Given the description of an element on the screen output the (x, y) to click on. 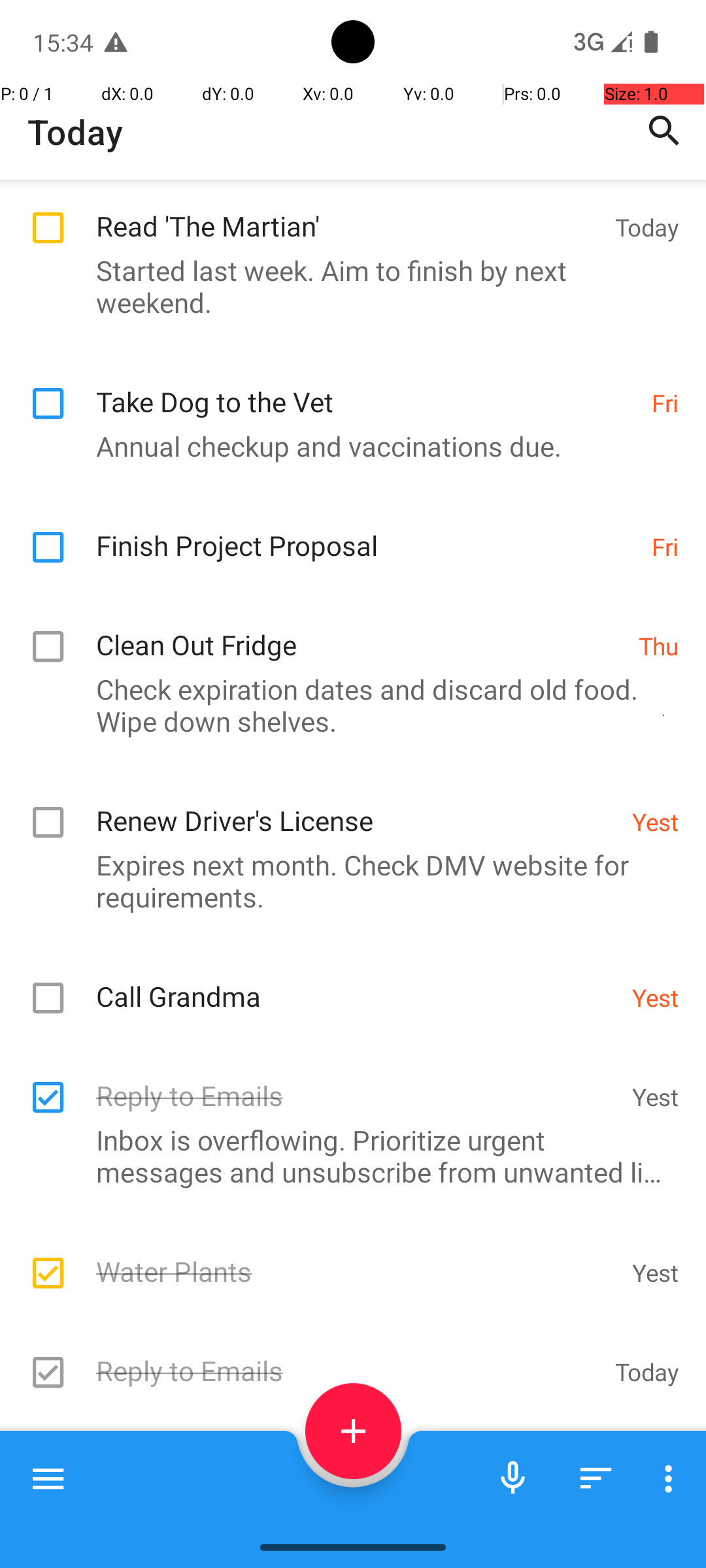
Read 'The Martian' Element type: android.widget.TextView (348, 211)
Started last week. Aim to finish by next weekend. Element type: android.widget.TextView (346, 285)
Take Dog to the Vet Element type: android.widget.TextView (367, 387)
Annual checkup and vaccinations due. Element type: android.widget.TextView (346, 445)
Finish Project Proposal Element type: android.widget.TextView (367, 531)
Clean Out Fridge Element type: android.widget.TextView (360, 630)
Check expiration dates and discard old food. Wipe down shelves. Element type: android.widget.TextView (346, 704)
Renew Driver's License Element type: android.widget.TextView (357, 806)
Expires next month. Check DMV website for requirements. Element type: android.widget.TextView (346, 880)
Call Grandma Element type: android.widget.TextView (357, 981)
Reply to Emails Element type: android.widget.TextView (357, 1081)
Inbox is overflowing. Prioritize urgent messages and unsubscribe from unwanted lists. Element type: android.widget.TextView (346, 1155)
Water Plants Element type: android.widget.TextView (357, 1257)
Change Air Filter Element type: android.widget.TextView (357, 1455)
Last changed 3 months ago. Buy a new filter at the hardware store. Element type: android.widget.TextView (346, 1510)
